Given the description of an element on the screen output the (x, y) to click on. 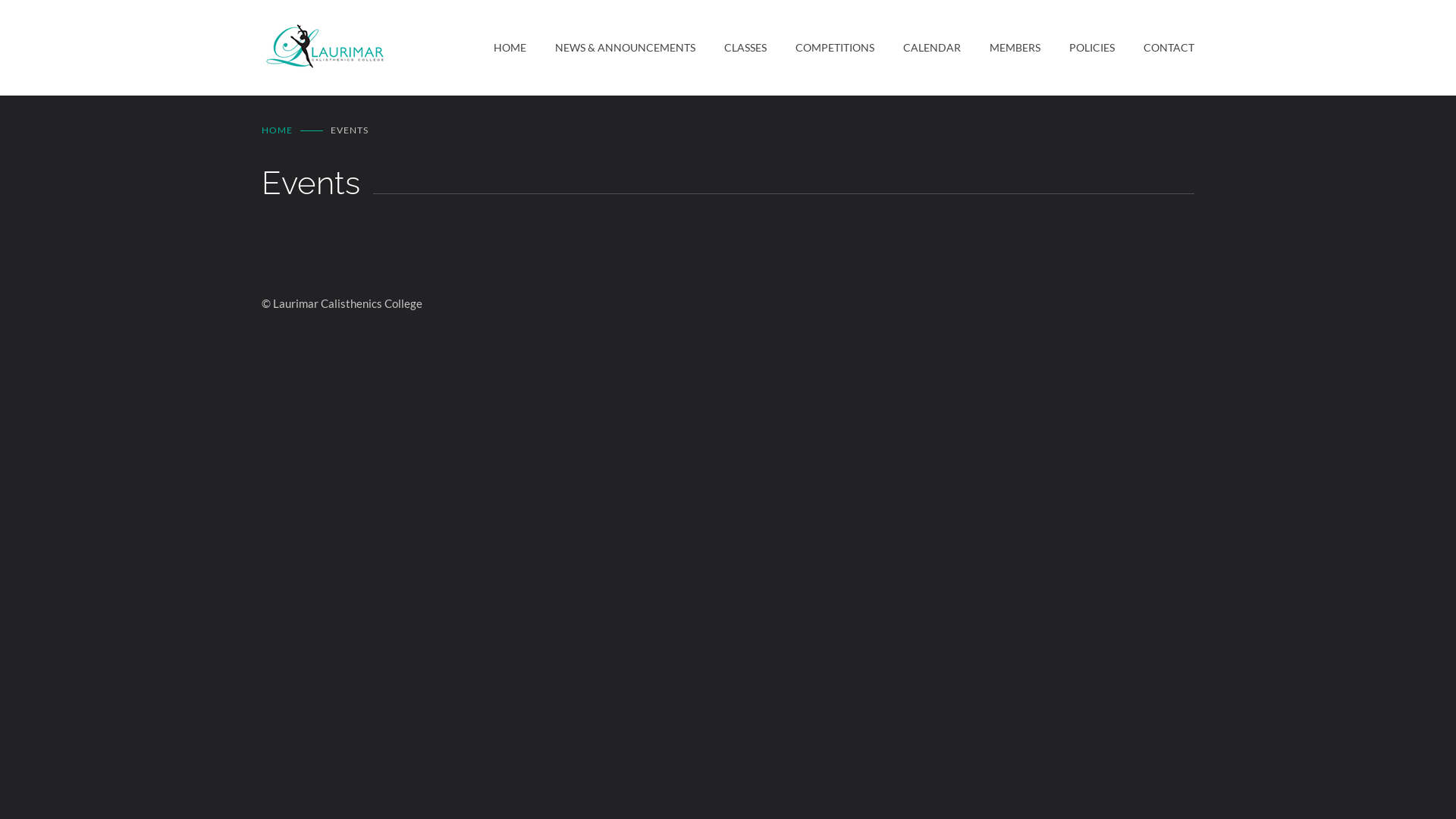
MEMBERS Element type: text (1000, 47)
NEWS & ANNOUNCEMENTS Element type: text (610, 47)
COMPETITIONS Element type: text (820, 47)
CONTACT Element type: text (1154, 47)
Laurimar Calisthenics College Element type: hover (377, 47)
CALENDAR Element type: text (917, 47)
HOME Element type: text (276, 129)
CLASSES Element type: text (730, 47)
HOME Element type: text (509, 47)
POLICIES Element type: text (1077, 47)
